Given the description of an element on the screen output the (x, y) to click on. 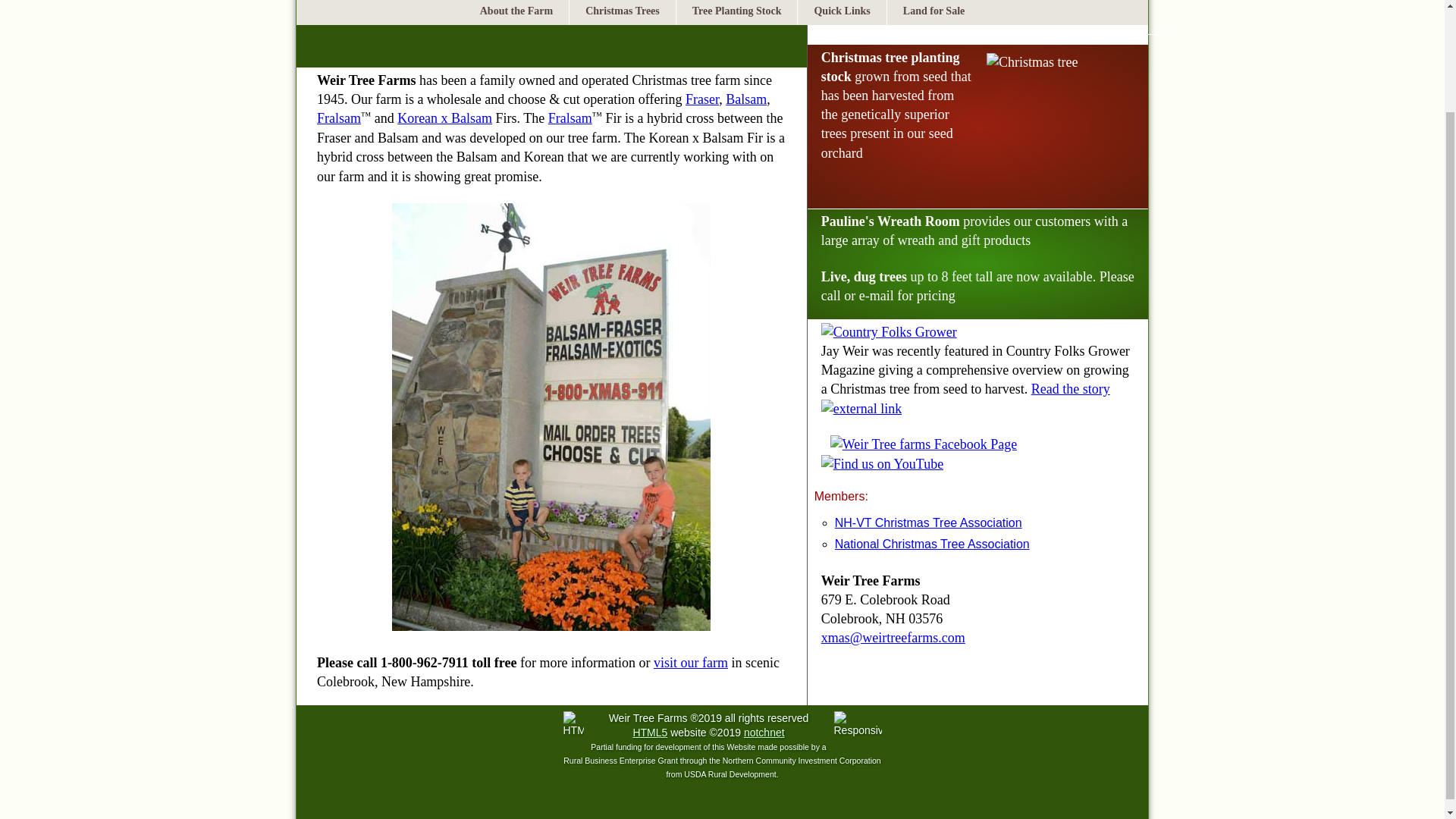
Tree Planting Stock (736, 12)
notchnet (764, 732)
Korean x Balsam (444, 118)
Fraser (702, 99)
Fraser Firs (702, 99)
Fralsam Firs (339, 118)
visit our farm (690, 662)
Balsam Firs (746, 99)
Balsam (746, 99)
Christmas Trees (622, 12)
